Given the description of an element on the screen output the (x, y) to click on. 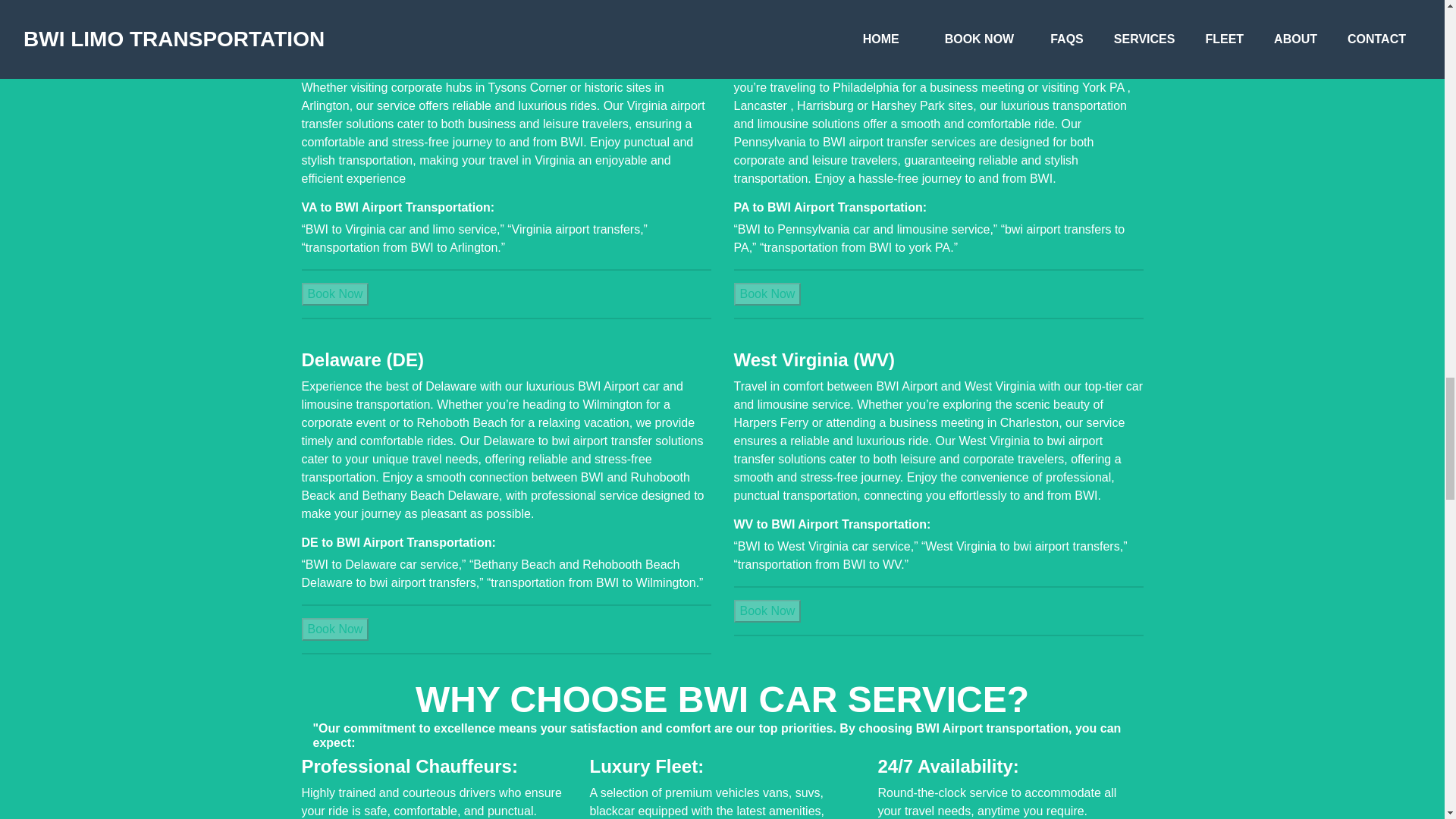
Book Now (335, 629)
Book Now (766, 610)
Book Now (767, 610)
Book Now (334, 628)
Book Now (766, 293)
Book Now (334, 293)
Book Now (335, 293)
Book Now (767, 293)
